Given the description of an element on the screen output the (x, y) to click on. 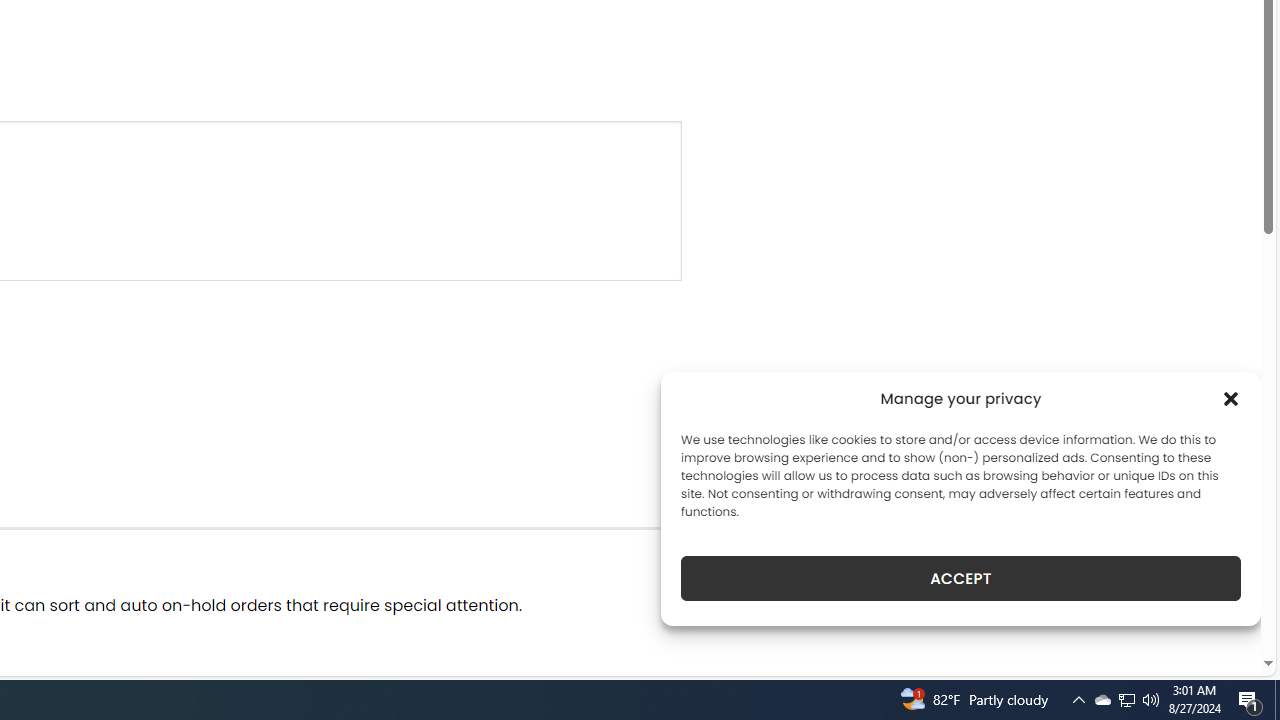
Class: cmplz-close (1231, 398)
ACCEPT (960, 578)
